Given the description of an element on the screen output the (x, y) to click on. 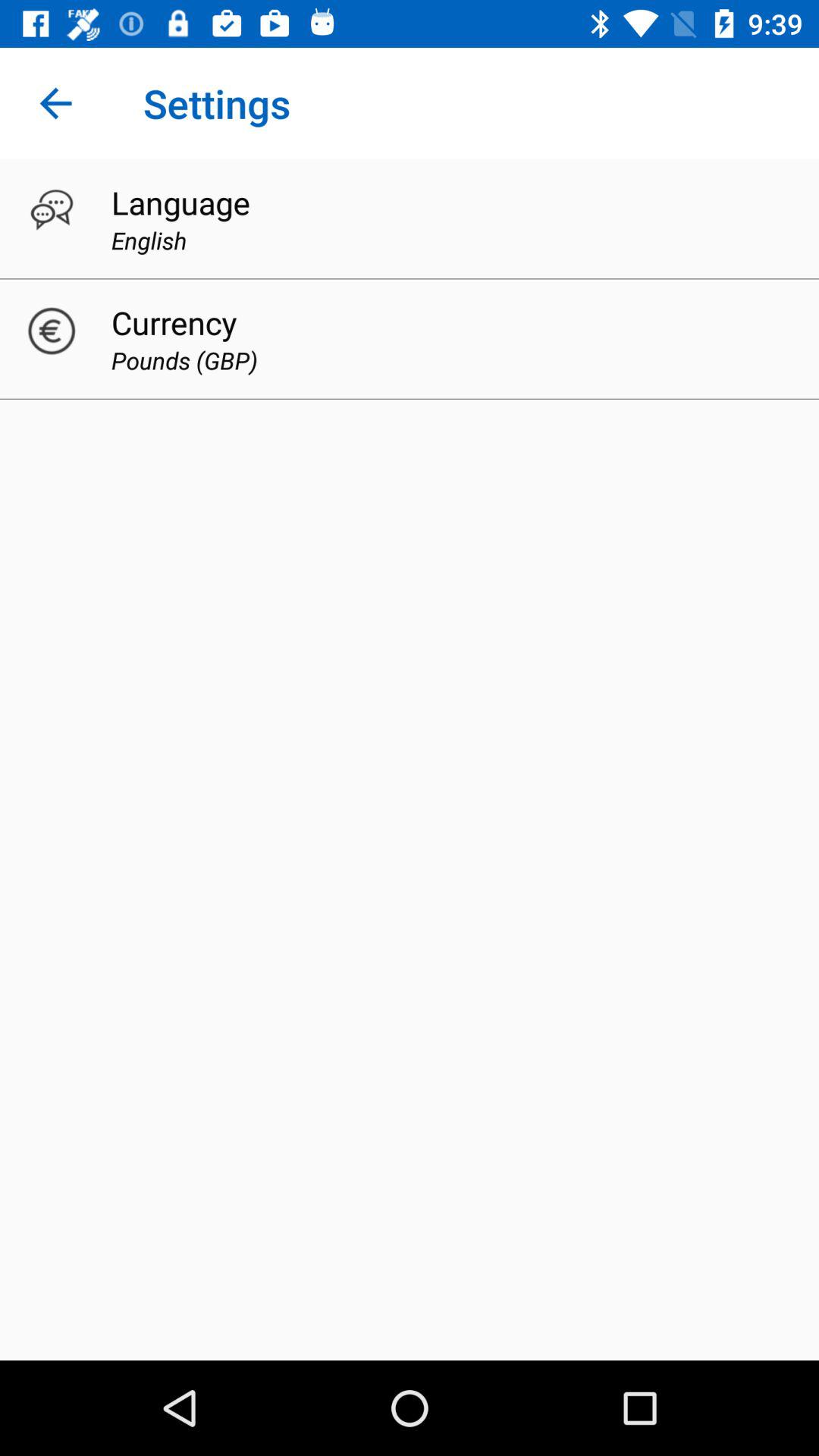
tap the icon above the english item (180, 202)
